Given the description of an element on the screen output the (x, y) to click on. 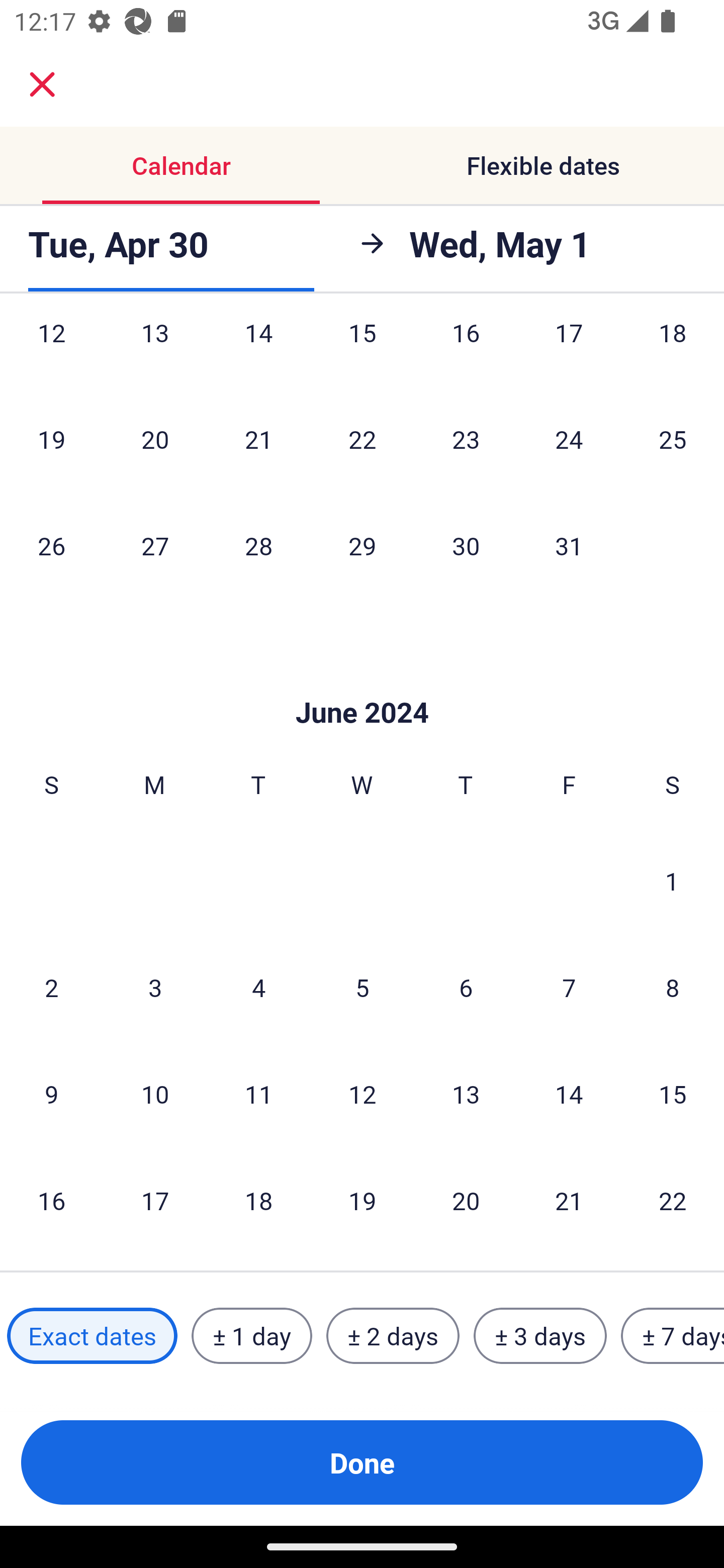
close. (42, 84)
Flexible dates (542, 164)
12 Sunday, May 12, 2024 (51, 352)
13 Monday, May 13, 2024 (155, 352)
14 Tuesday, May 14, 2024 (258, 352)
15 Wednesday, May 15, 2024 (362, 352)
16 Thursday, May 16, 2024 (465, 352)
17 Friday, May 17, 2024 (569, 352)
18 Saturday, May 18, 2024 (672, 352)
19 Sunday, May 19, 2024 (51, 438)
20 Monday, May 20, 2024 (155, 438)
21 Tuesday, May 21, 2024 (258, 438)
22 Wednesday, May 22, 2024 (362, 438)
23 Thursday, May 23, 2024 (465, 438)
24 Friday, May 24, 2024 (569, 438)
25 Saturday, May 25, 2024 (672, 438)
26 Sunday, May 26, 2024 (51, 545)
27 Monday, May 27, 2024 (155, 545)
28 Tuesday, May 28, 2024 (258, 545)
29 Wednesday, May 29, 2024 (362, 545)
30 Thursday, May 30, 2024 (465, 545)
31 Friday, May 31, 2024 (569, 545)
Skip to Done (362, 681)
1 Saturday, June 1, 2024 (672, 880)
2 Sunday, June 2, 2024 (51, 987)
3 Monday, June 3, 2024 (155, 987)
4 Tuesday, June 4, 2024 (258, 987)
5 Wednesday, June 5, 2024 (362, 987)
6 Thursday, June 6, 2024 (465, 987)
7 Friday, June 7, 2024 (569, 987)
8 Saturday, June 8, 2024 (672, 987)
9 Sunday, June 9, 2024 (51, 1093)
10 Monday, June 10, 2024 (155, 1093)
11 Tuesday, June 11, 2024 (258, 1093)
12 Wednesday, June 12, 2024 (362, 1093)
13 Thursday, June 13, 2024 (465, 1093)
14 Friday, June 14, 2024 (569, 1093)
15 Saturday, June 15, 2024 (672, 1093)
16 Sunday, June 16, 2024 (51, 1200)
17 Monday, June 17, 2024 (155, 1200)
18 Tuesday, June 18, 2024 (258, 1200)
19 Wednesday, June 19, 2024 (362, 1200)
20 Thursday, June 20, 2024 (465, 1200)
21 Friday, June 21, 2024 (569, 1200)
22 Saturday, June 22, 2024 (672, 1200)
Exact dates (92, 1335)
± 1 day (251, 1335)
± 2 days (392, 1335)
± 3 days (539, 1335)
± 7 days (672, 1335)
Done (361, 1462)
